Given the description of an element on the screen output the (x, y) to click on. 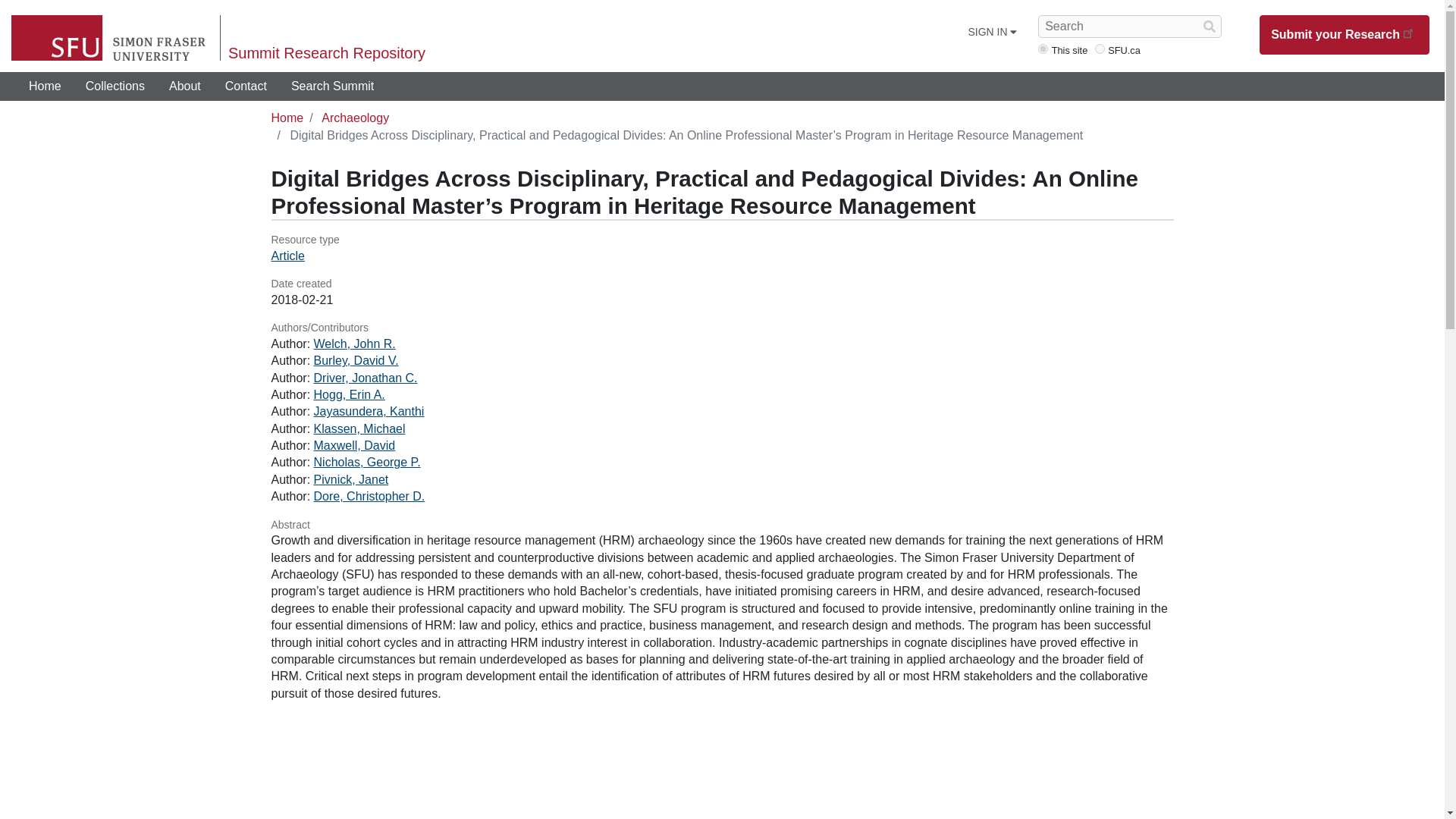
Contact details (245, 86)
Abstract (721, 525)
Dore, Christopher D. (369, 495)
Hogg, Erin A. (349, 394)
Search Summit (332, 86)
Summit Research Repository (326, 53)
Jayasundera, Kanthi (369, 410)
Home (45, 86)
Browse SFU collections of theses and published works (115, 86)
Archaeology (354, 117)
